Given the description of an element on the screen output the (x, y) to click on. 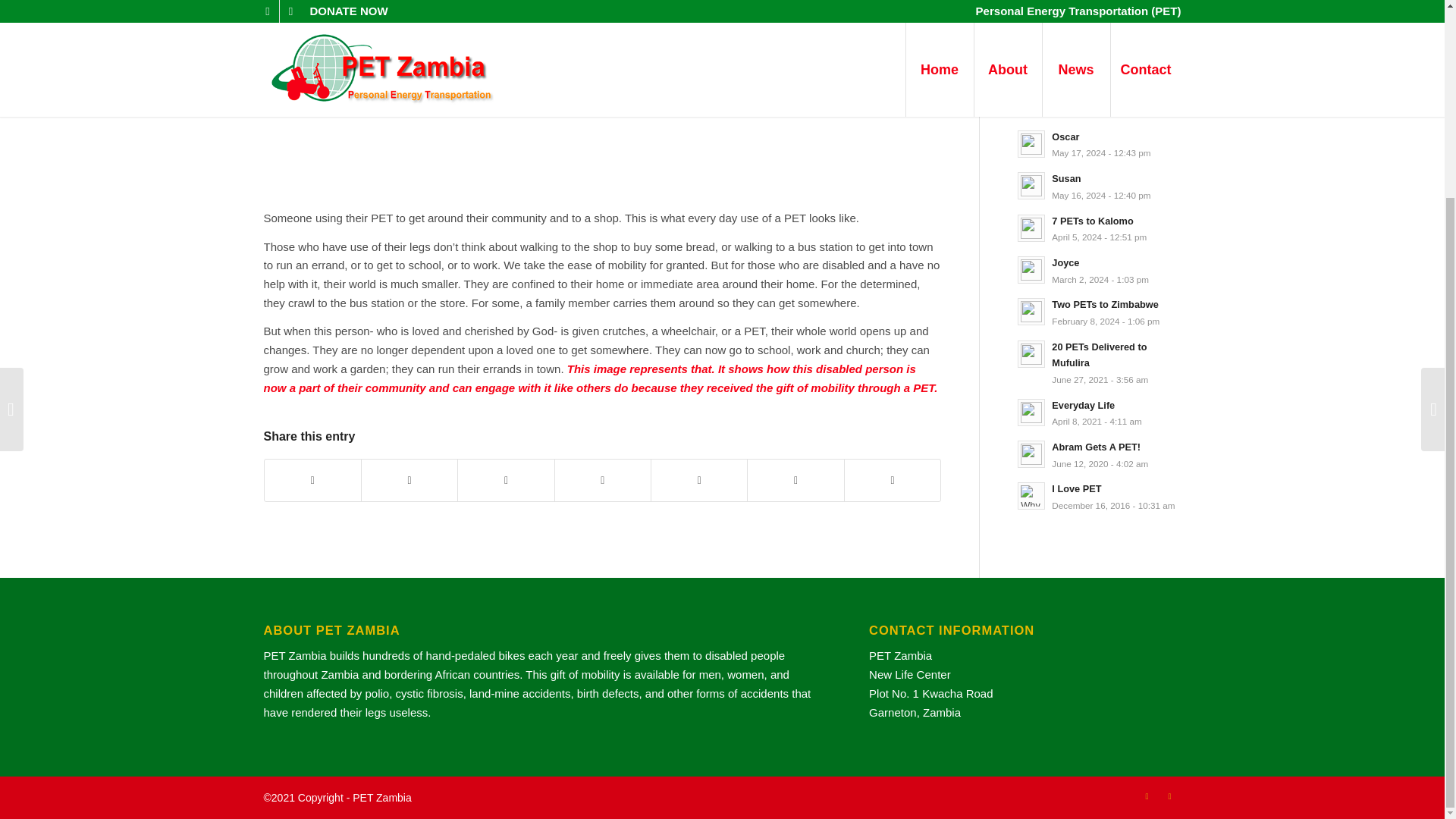
Obvious (1098, 18)
Daniel (1098, 412)
